Given the description of an element on the screen output the (x, y) to click on. 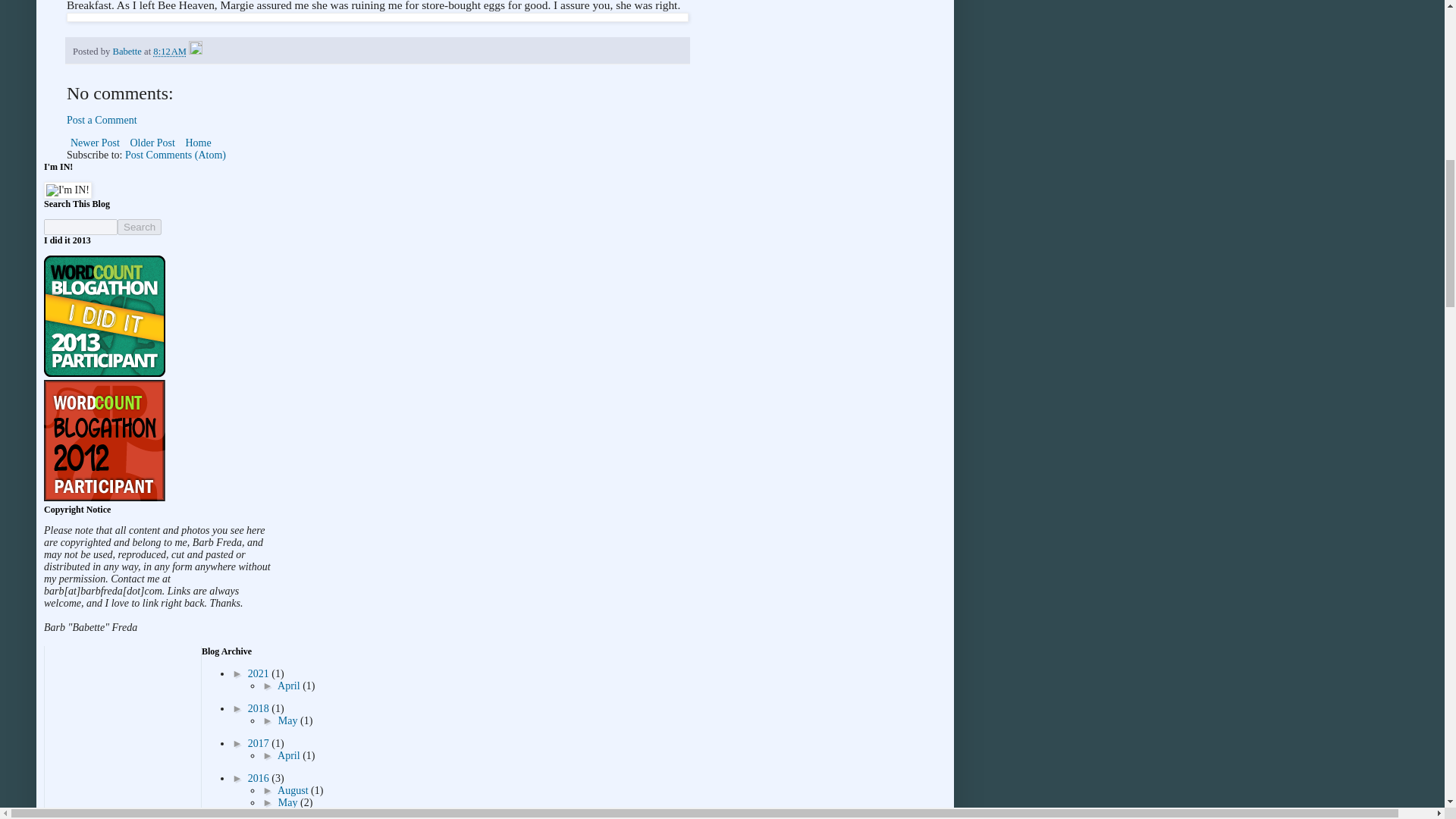
2021 (259, 673)
search (139, 227)
April (290, 755)
author profile (128, 50)
2016 (259, 778)
Post a Comment (101, 120)
May (288, 720)
search (80, 227)
August (294, 790)
Older Post (152, 142)
Search (139, 227)
2018 (259, 708)
April (290, 685)
2017 (259, 743)
